Given the description of an element on the screen output the (x, y) to click on. 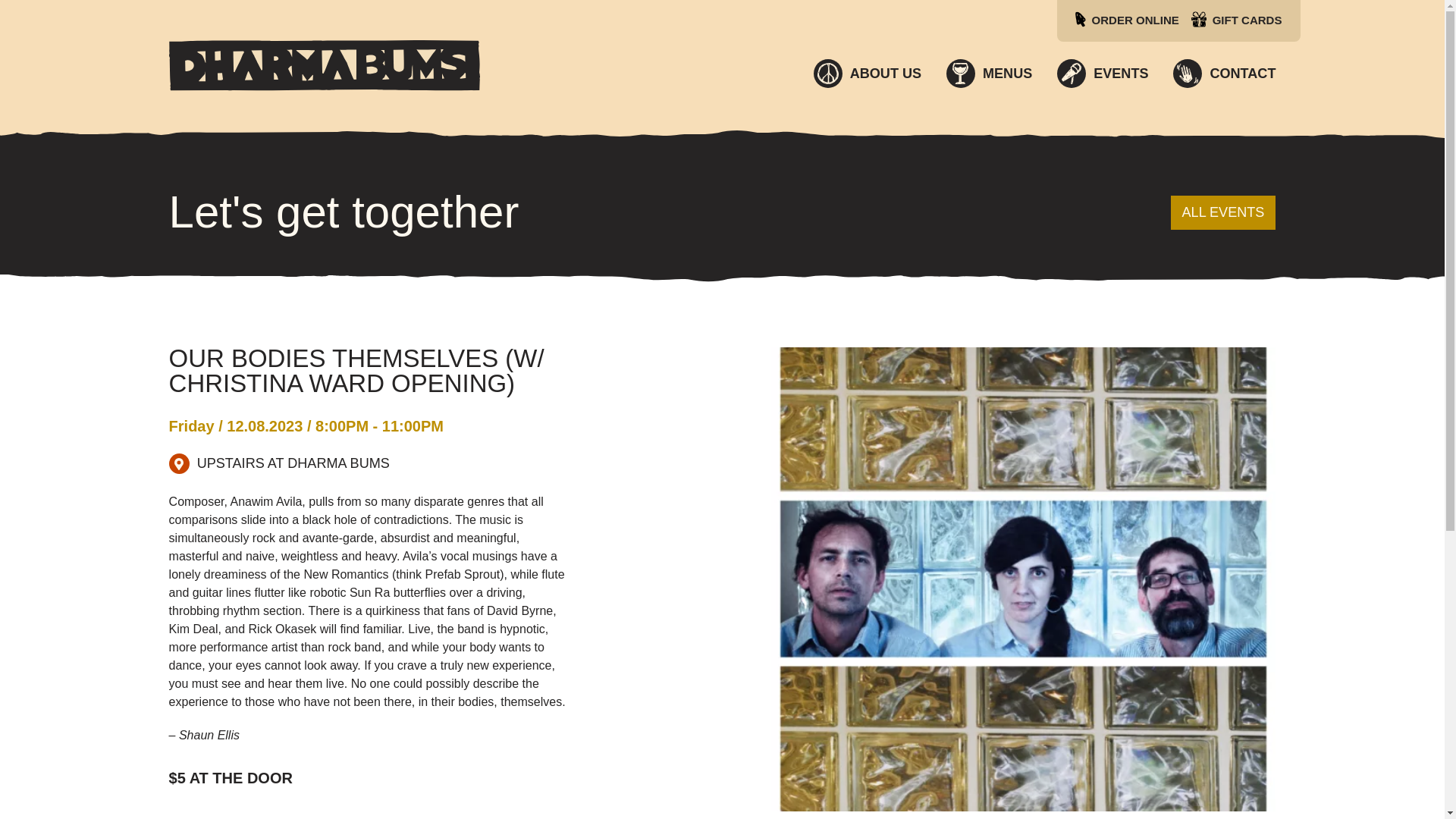
ABOUT US (866, 72)
CONTACT (1224, 72)
ALL EVENTS (1223, 212)
ORDER ONLINE (1132, 20)
MENUS (989, 72)
EVENTS (1102, 72)
GIFT CARDS (1244, 20)
